Given the description of an element on the screen output the (x, y) to click on. 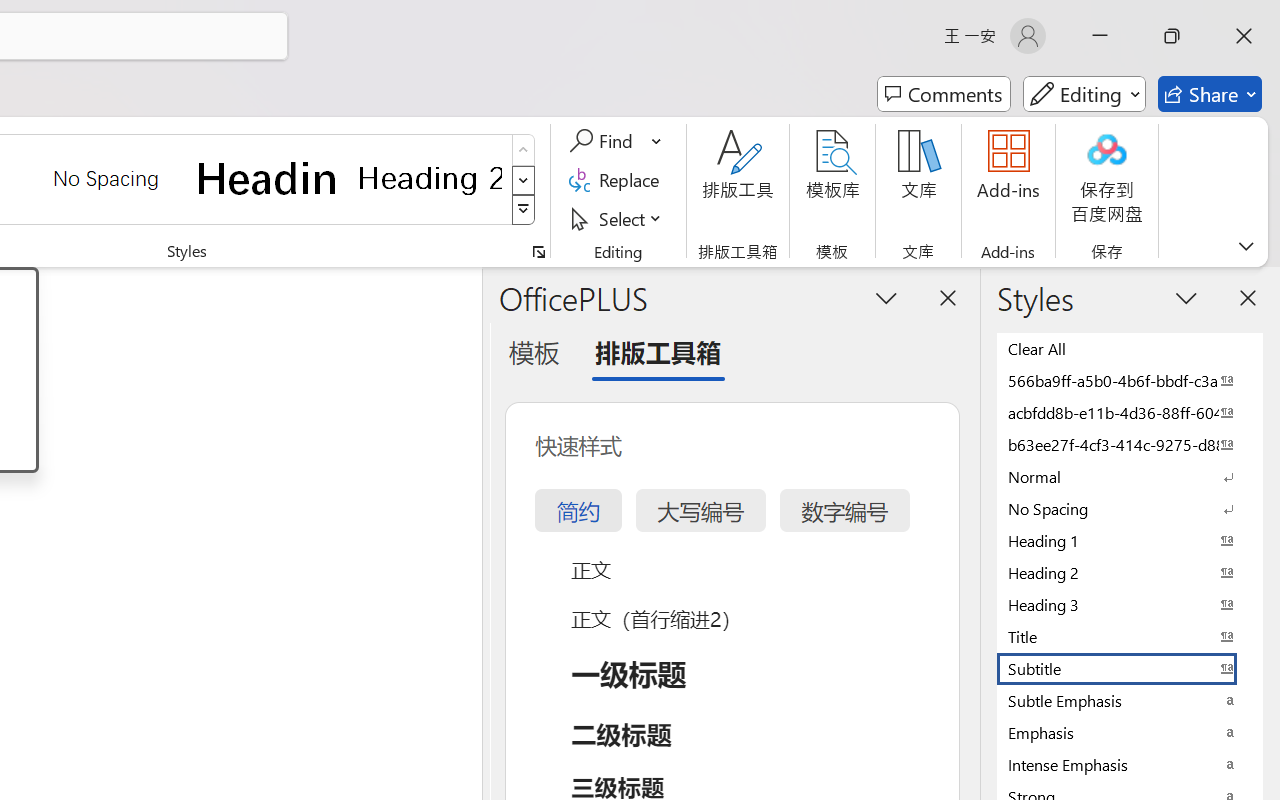
Heading 2 (429, 178)
Share (1210, 94)
Row up (523, 150)
Comments (943, 94)
566ba9ff-a5b0-4b6f-bbdf-c3ab41993fc2 (1130, 380)
Mode (1083, 94)
Styles... (538, 252)
Title (1130, 636)
Intense Emphasis (1130, 764)
Ribbon Display Options (1246, 245)
Restore Down (1172, 36)
